Given the description of an element on the screen output the (x, y) to click on. 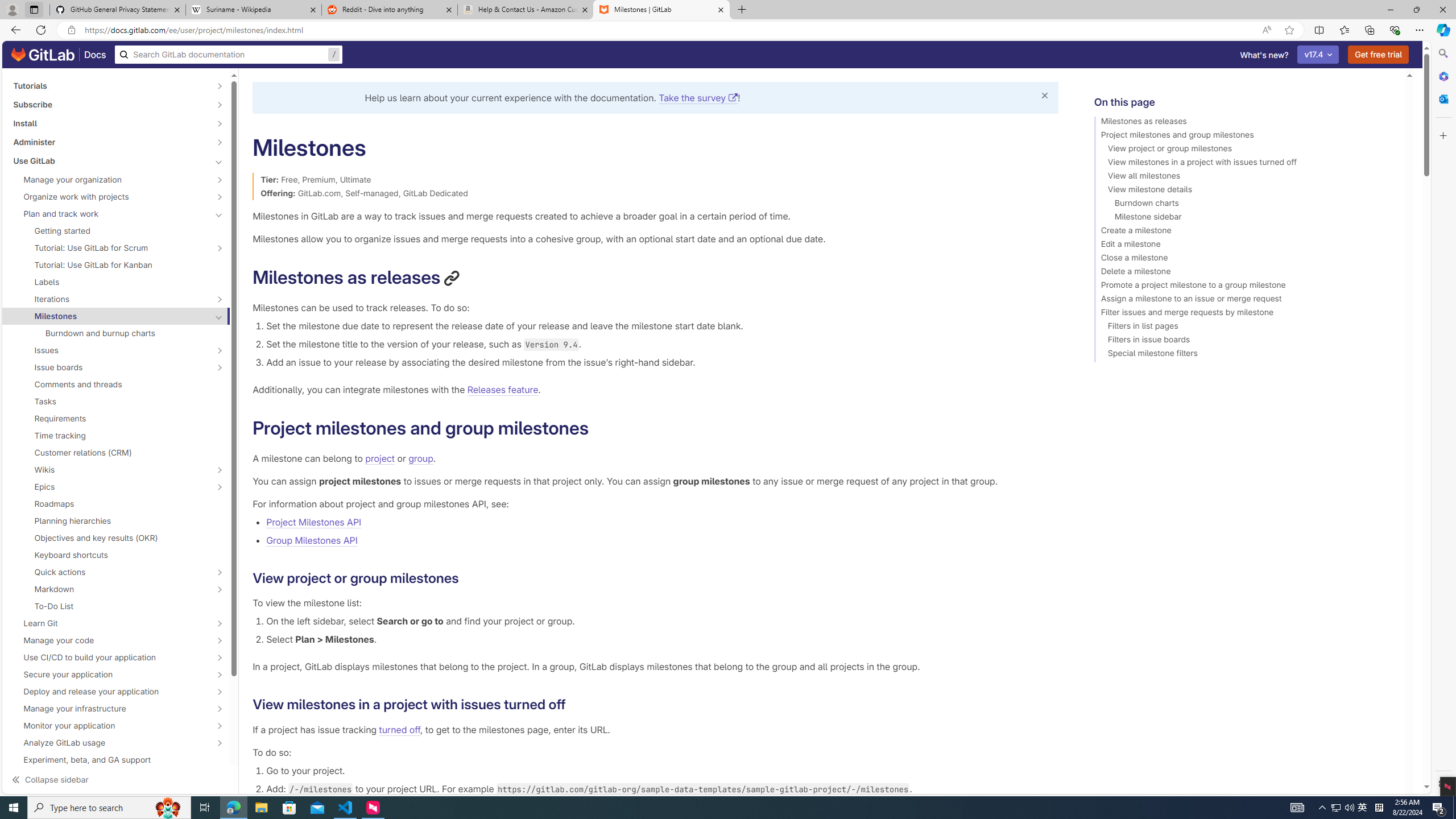
Group Milestones API (662, 540)
Special milestone filters (1244, 354)
project (379, 458)
Permalink (574, 703)
Wikis (109, 469)
Promote a project milestone to a group milestone (1244, 287)
Analyze GitLab usage (109, 742)
Learn Git (109, 623)
GitLab documentation home Docs (58, 53)
Customer relations (CRM) (116, 452)
Monitor your application (109, 725)
Organize work with projects (109, 196)
Burndown charts (1244, 205)
